Given the description of an element on the screen output the (x, y) to click on. 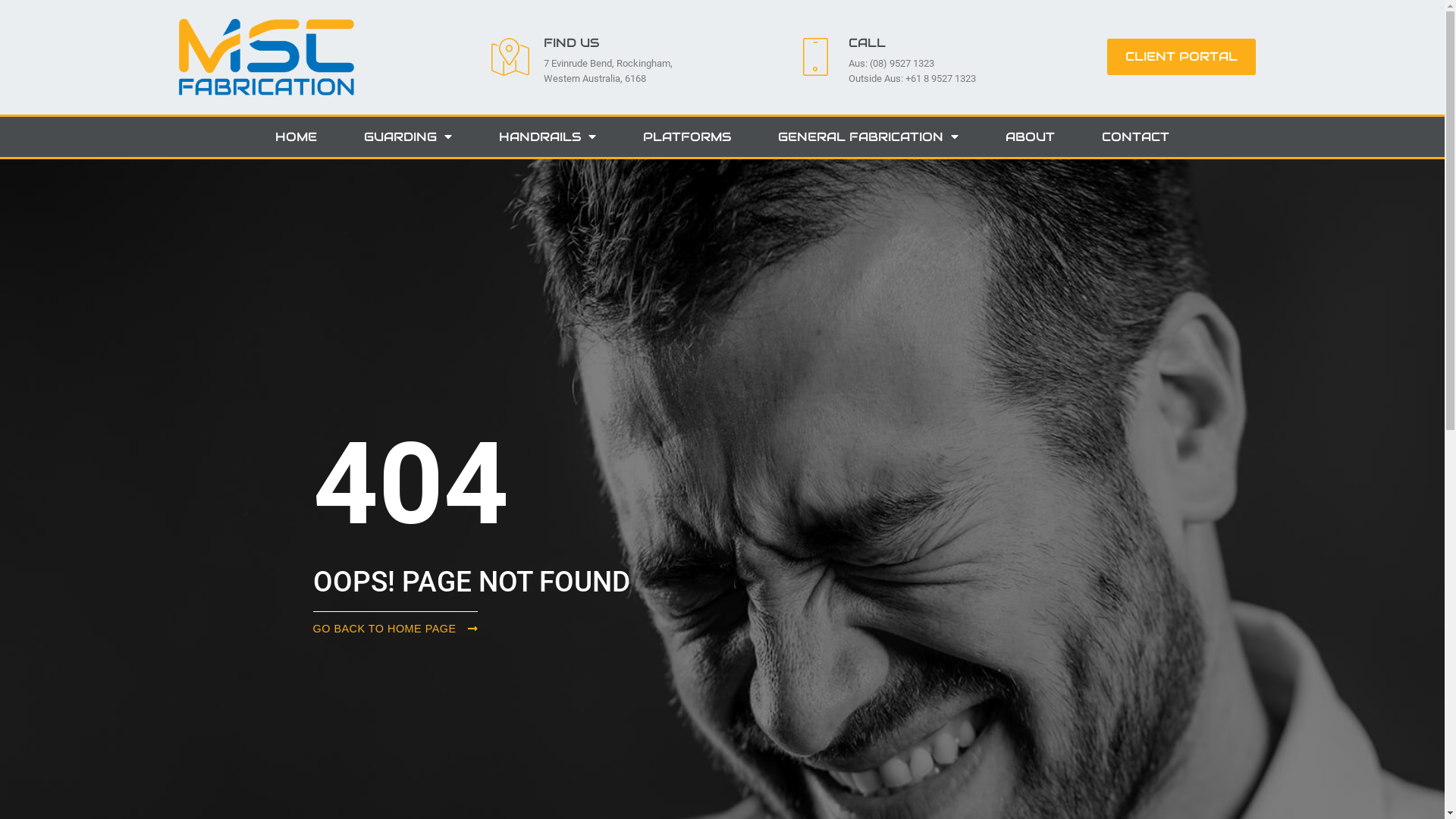
FIND US Element type: text (571, 42)
CONTACT Element type: text (1135, 136)
GO BACK TO HOME PAGE Element type: text (394, 625)
HANDRAILS Element type: text (547, 136)
CLIENT PORTAL Element type: text (1181, 56)
ABOUT Element type: text (1030, 136)
GENERAL FABRICATION Element type: text (868, 136)
PLATFORMS Element type: text (686, 136)
CALL Element type: text (866, 42)
HOME Element type: text (295, 136)
GUARDING Element type: text (407, 136)
